Given the description of an element on the screen output the (x, y) to click on. 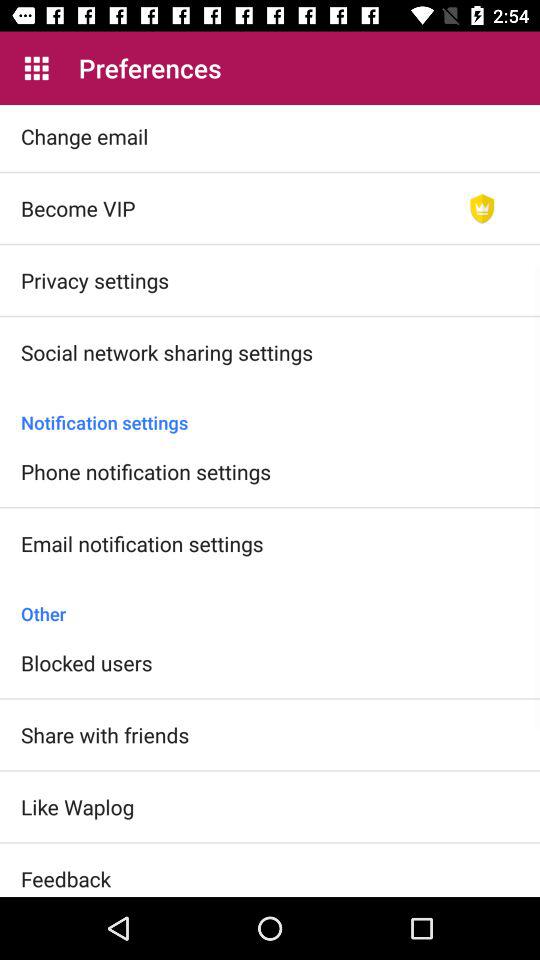
press item below change email item (78, 208)
